Given the description of an element on the screen output the (x, y) to click on. 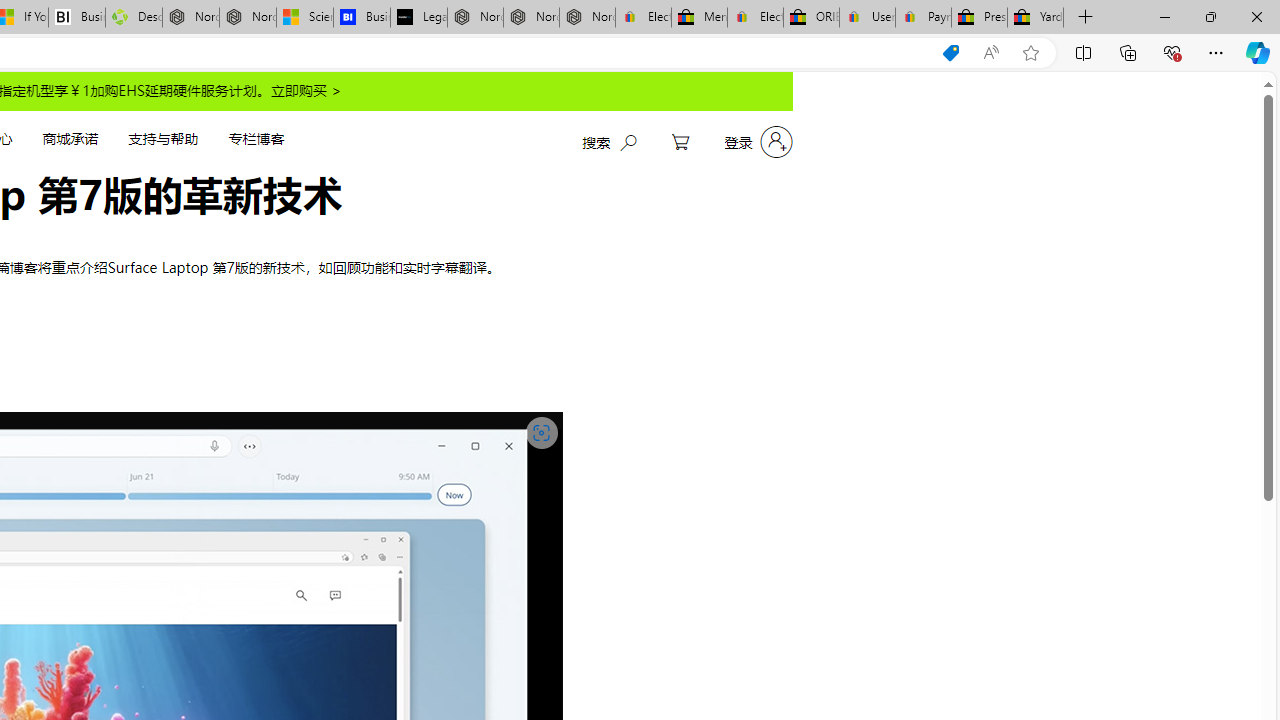
Yard, Garden & Outdoor Living (1035, 17)
User Privacy Notice | eBay (866, 17)
